Given the description of an element on the screen output the (x, y) to click on. 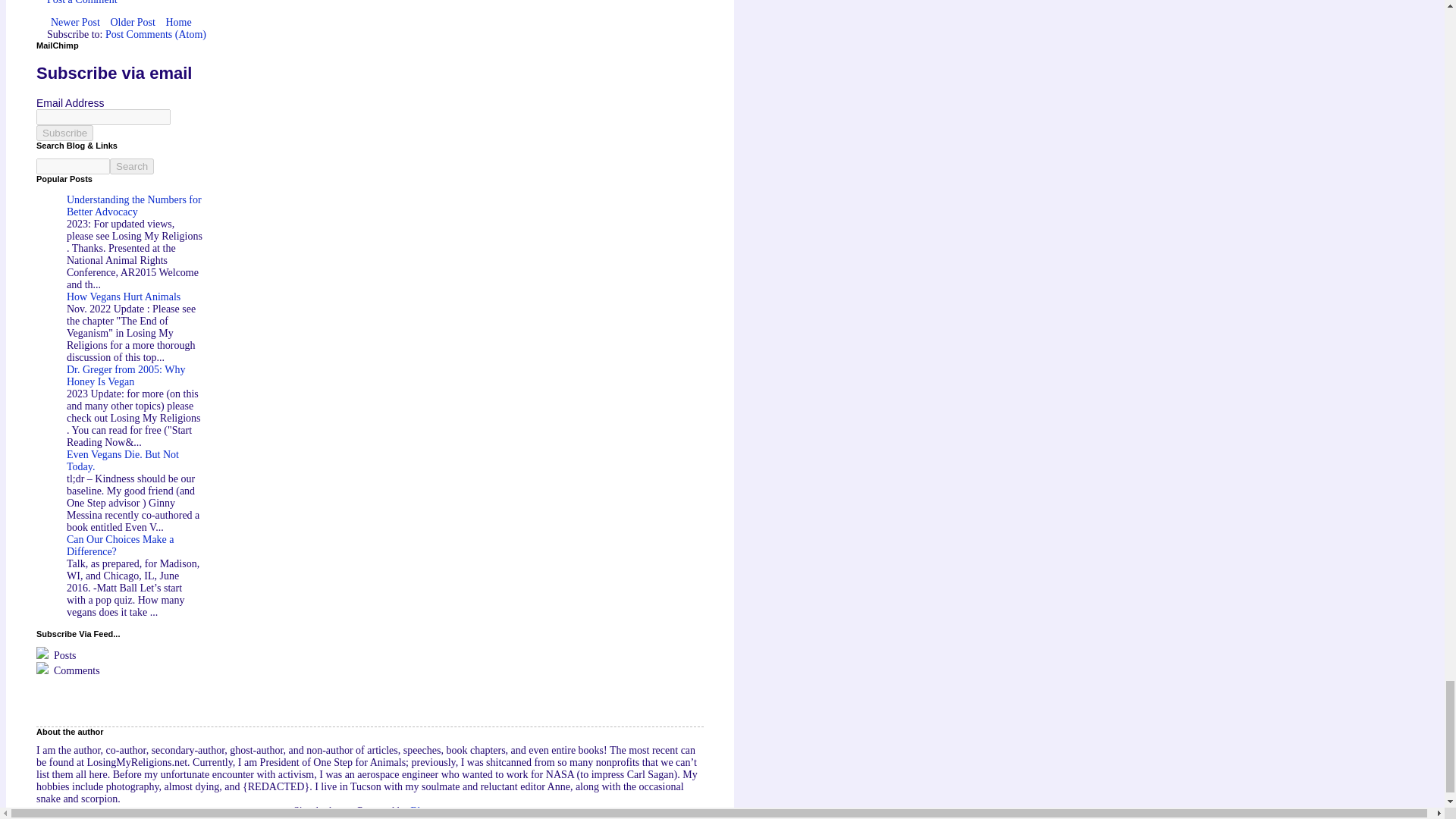
Subscribe (64, 132)
Search (132, 166)
Search (132, 166)
